Given the description of an element on the screen output the (x, y) to click on. 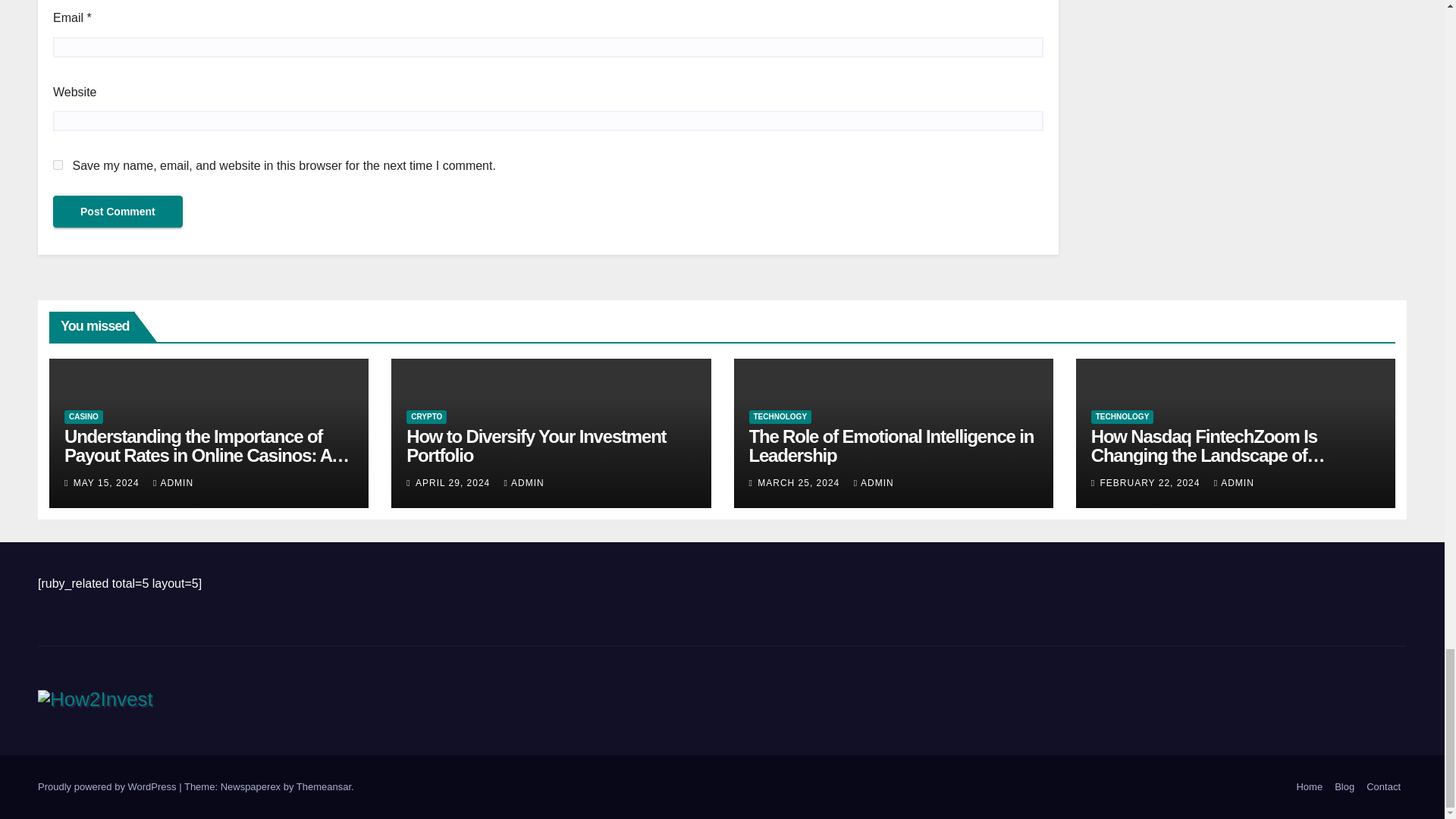
yes (57, 164)
Permalink to: How to Diversify Your Investment Portfolio (535, 445)
Post Comment (117, 211)
Home (1308, 786)
